Given the description of an element on the screen output the (x, y) to click on. 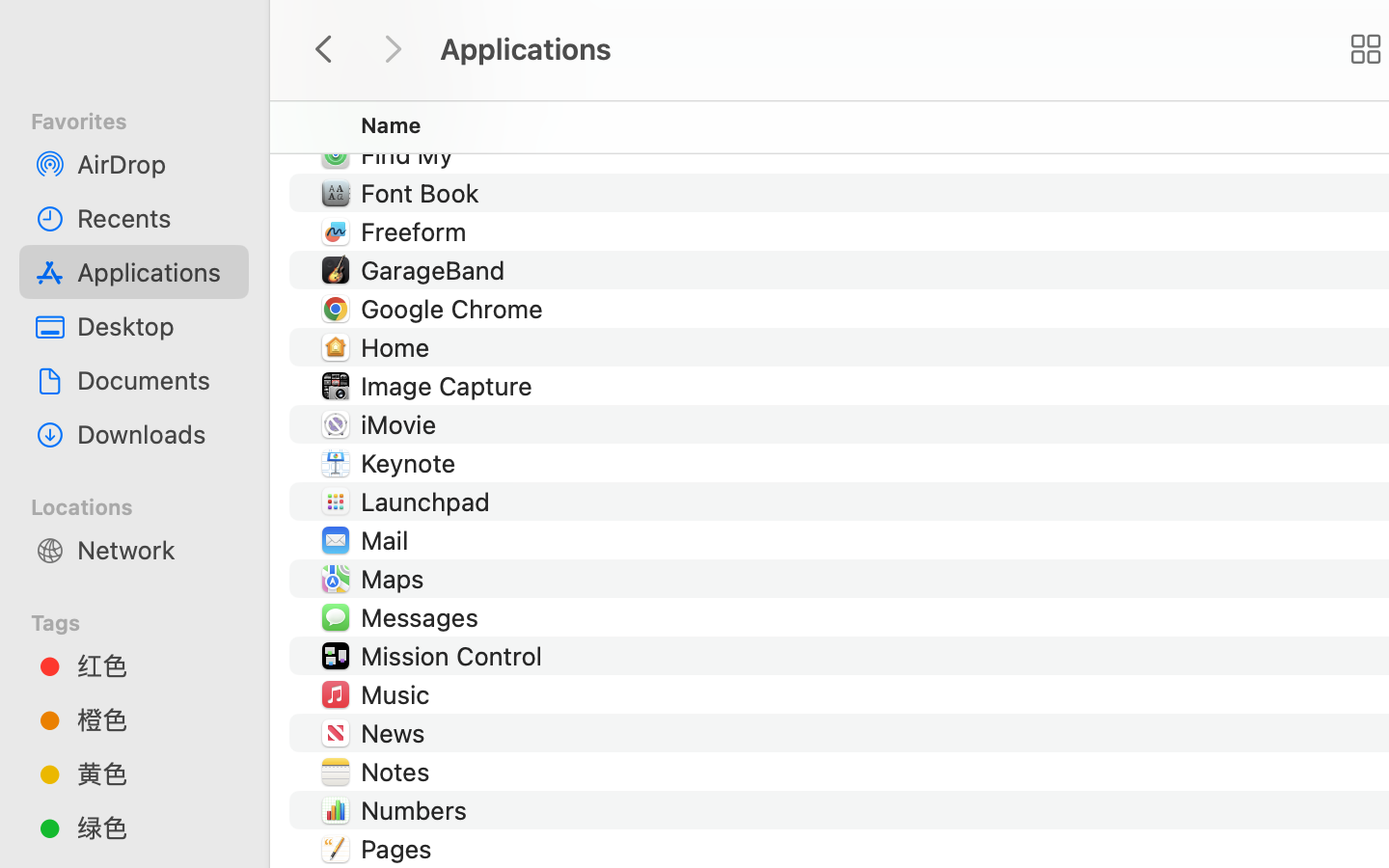
iMovie Element type: AXTextField (402, 423)
Notes Element type: AXTextField (398, 771)
Downloads Element type: AXStaticText (155, 433)
Home Element type: AXTextField (398, 346)
Name Element type: AXStaticText (391, 124)
